Given the description of an element on the screen output the (x, y) to click on. 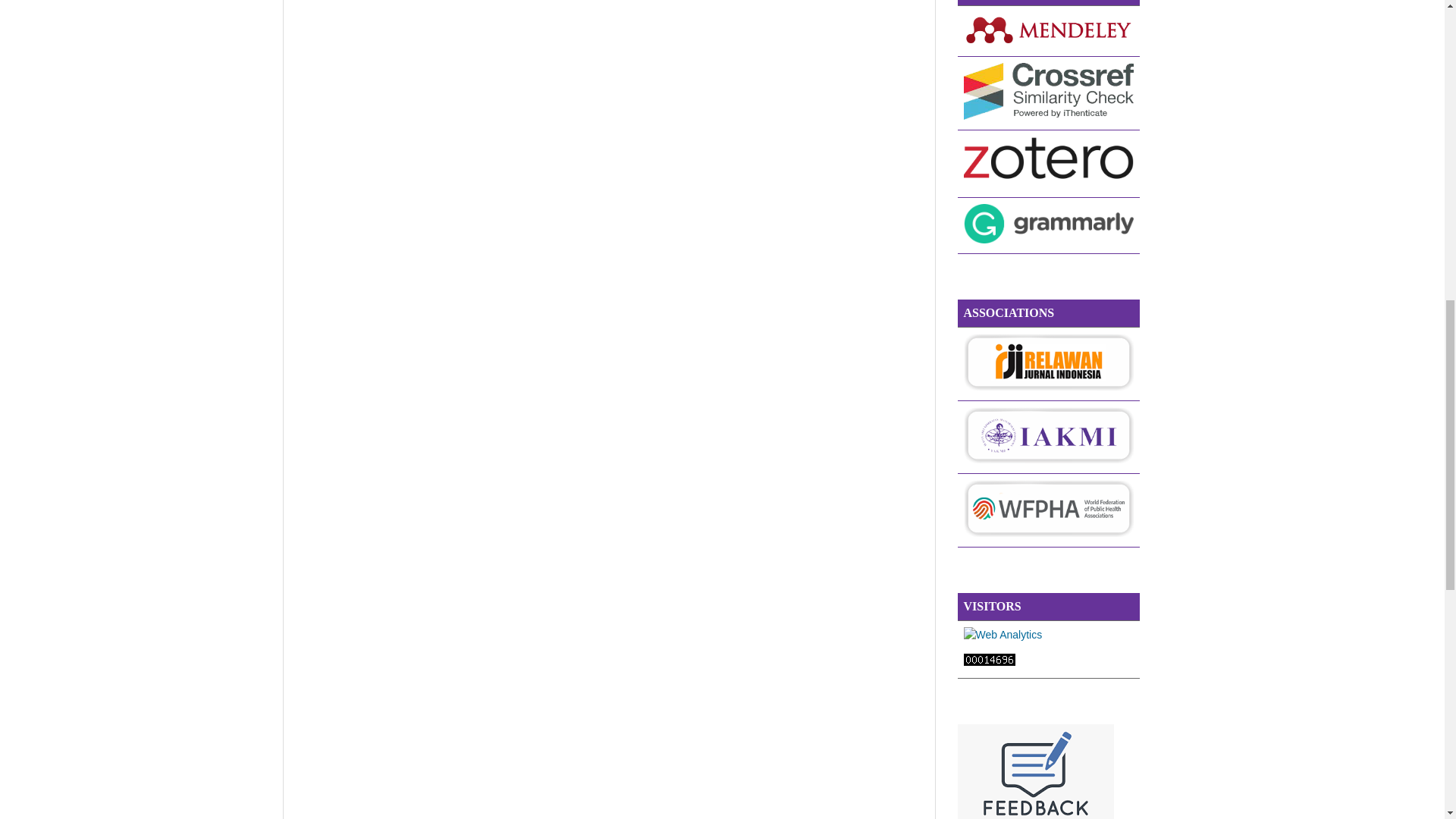
zotero (1047, 183)
JPHE feedback (1034, 816)
Web Analytics (1002, 634)
mendeley (1047, 42)
Web Analytics Made Easy - Statcounter (988, 662)
RJI (1047, 386)
grammarly (1047, 239)
crossref (1047, 115)
